Given the description of an element on the screen output the (x, y) to click on. 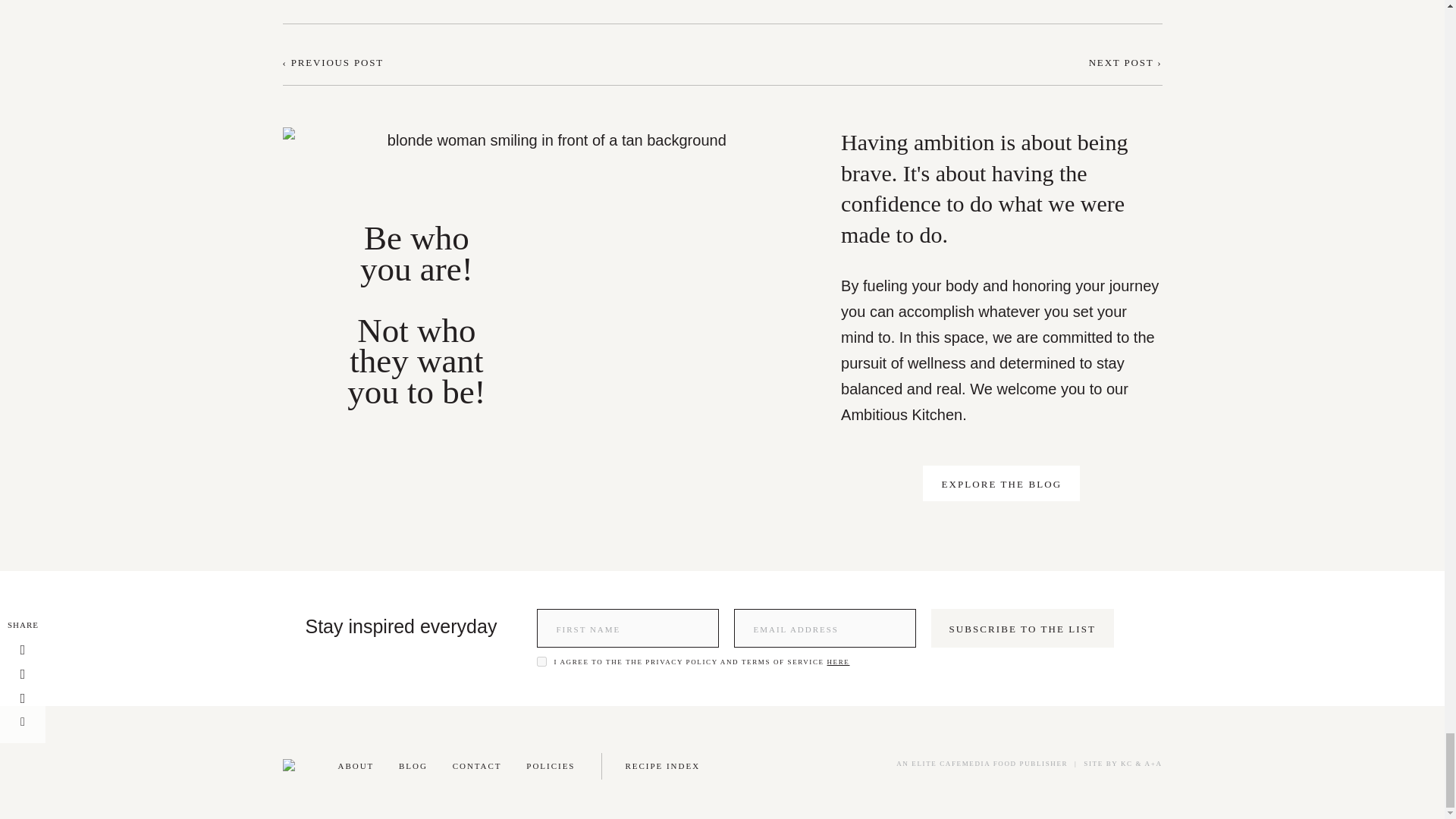
on (542, 661)
